Given the description of an element on the screen output the (x, y) to click on. 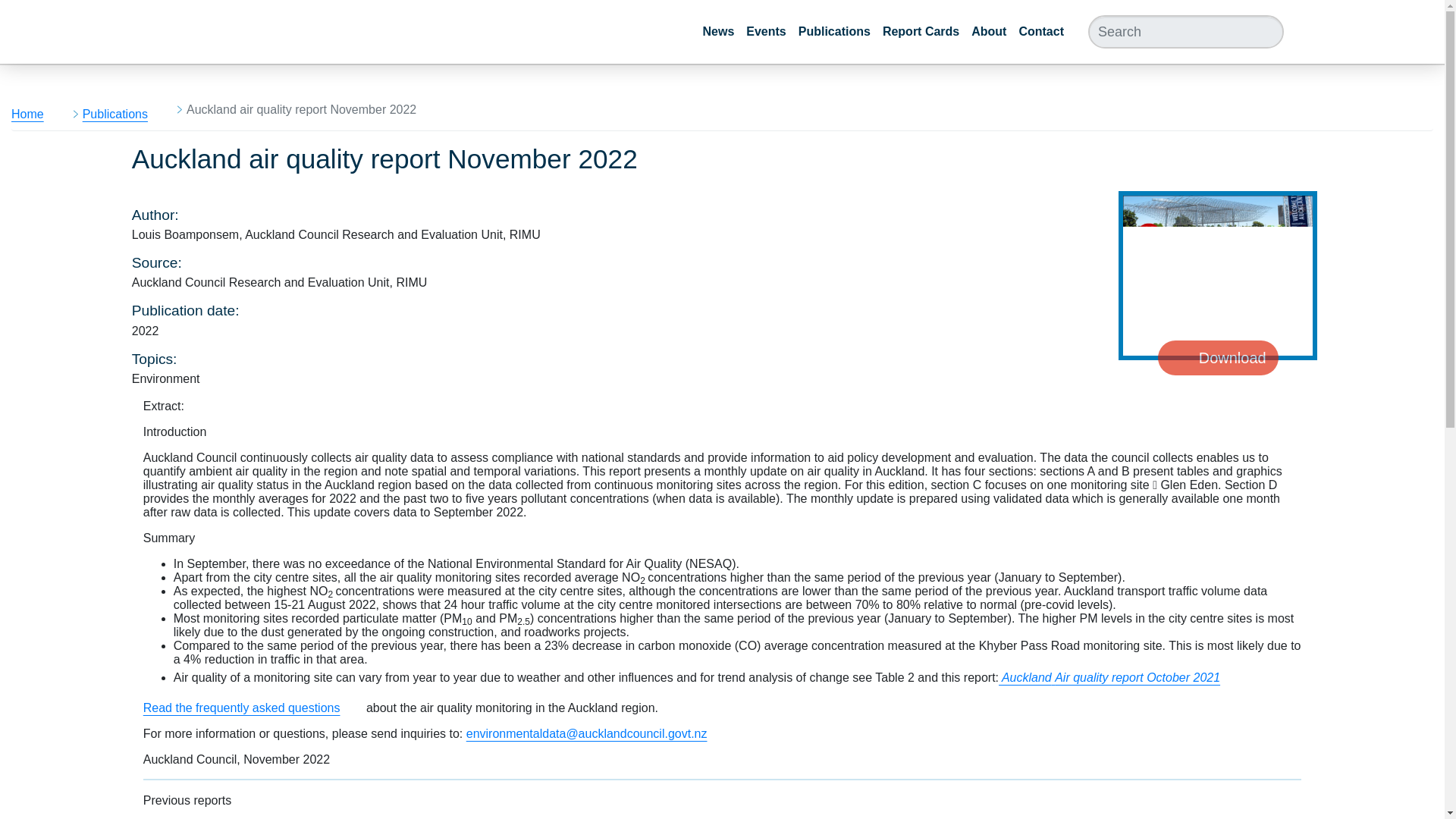
Auckland Council (1367, 31)
Events (765, 31)
Download (1217, 357)
Auckland air quality report November 2022 (1217, 307)
Contact (1040, 31)
Download (1217, 307)
Read the frequently asked questions (252, 707)
Auckland Council (1367, 31)
RIMU - Research and Evaluation Unit (170, 31)
News (717, 31)
Home (38, 113)
Report Cards (920, 31)
Publications (834, 31)
RIMU - Research and Evaluation Unit (170, 31)
Auckland Air quality report October 2021 (1120, 676)
